Given the description of an element on the screen output the (x, y) to click on. 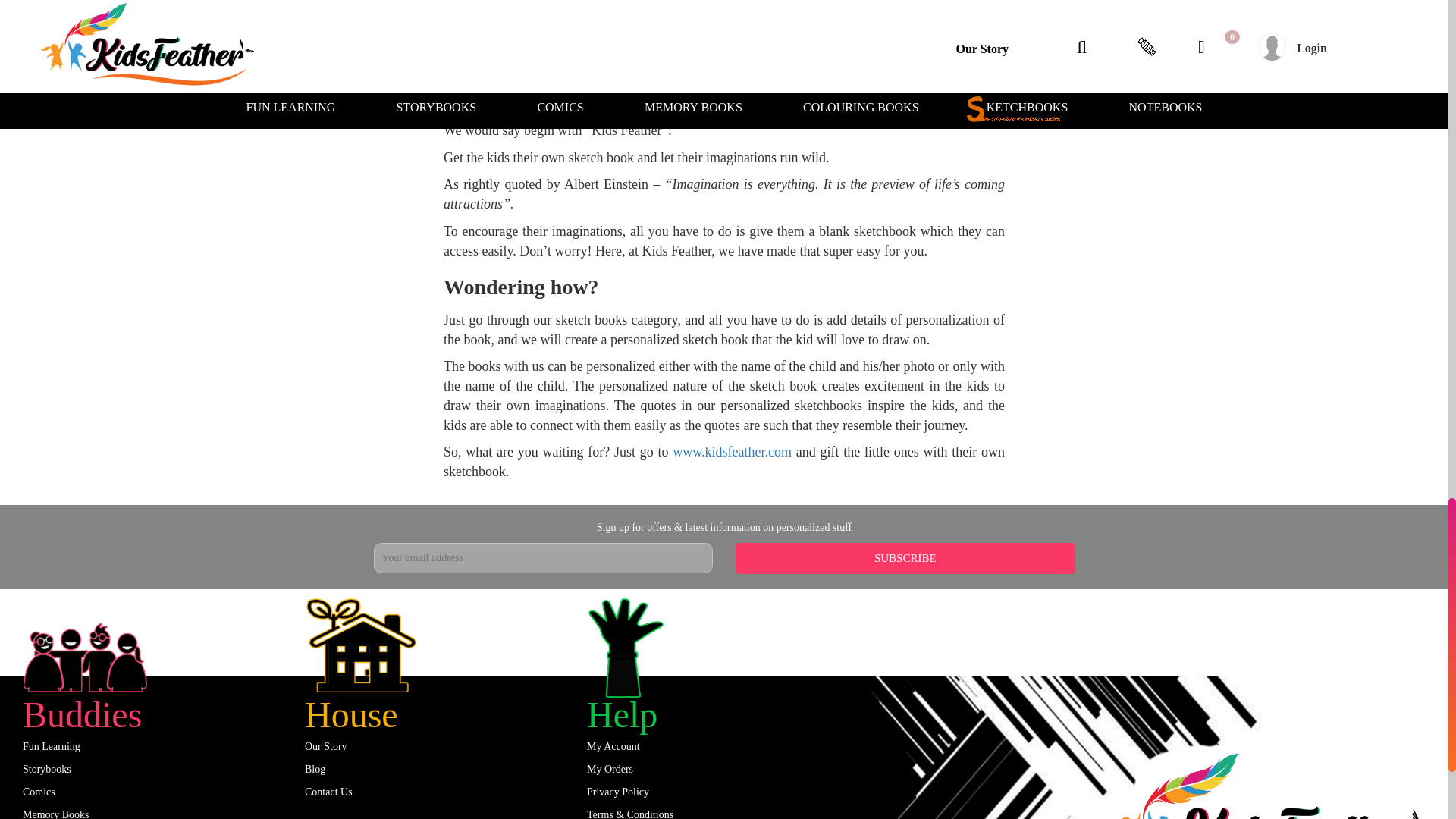
Subscribe (905, 558)
